Given the description of an element on the screen output the (x, y) to click on. 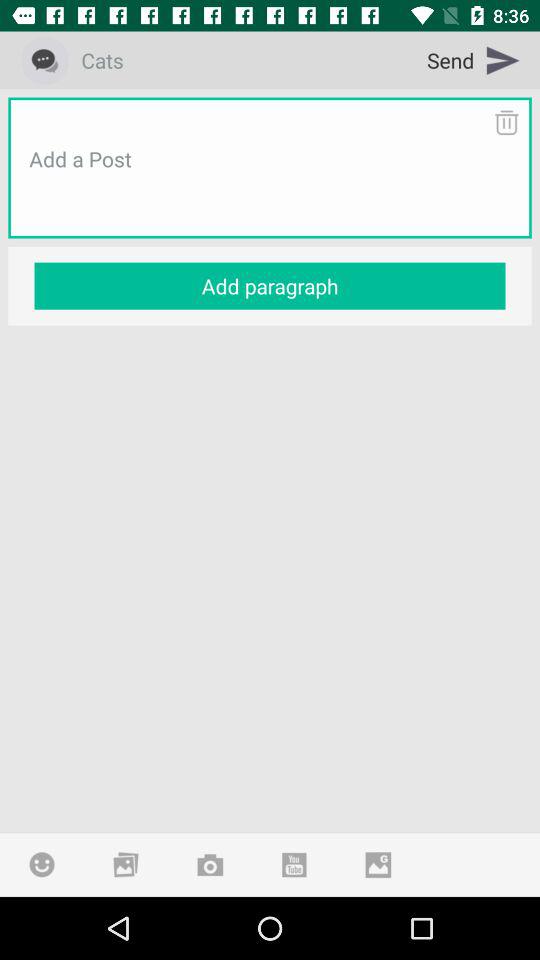
click the item next to the cats item (474, 60)
